Given the description of an element on the screen output the (x, y) to click on. 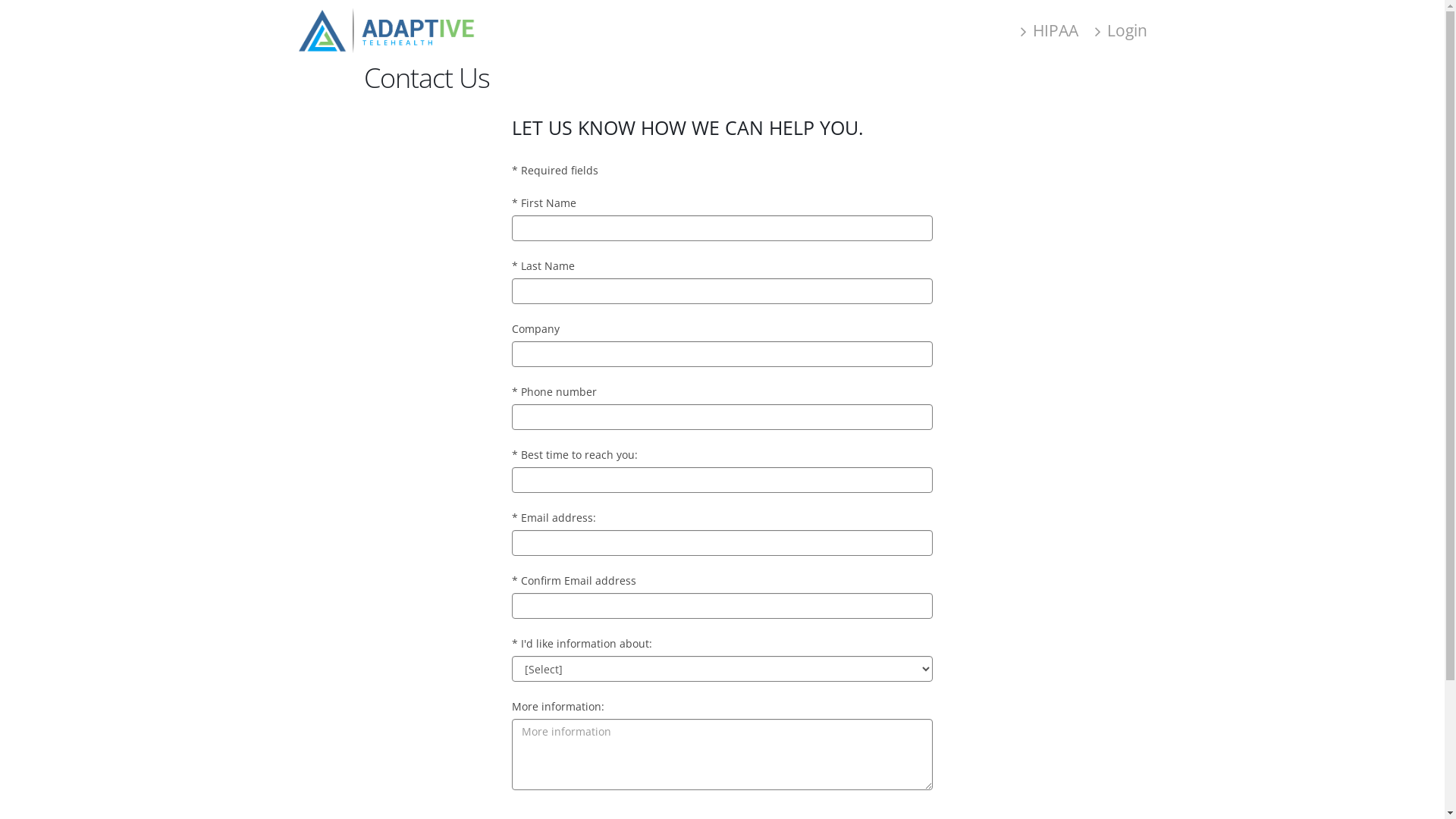
Login Element type: text (1120, 29)
HIPAA Element type: text (1049, 29)
